Given the description of an element on the screen output the (x, y) to click on. 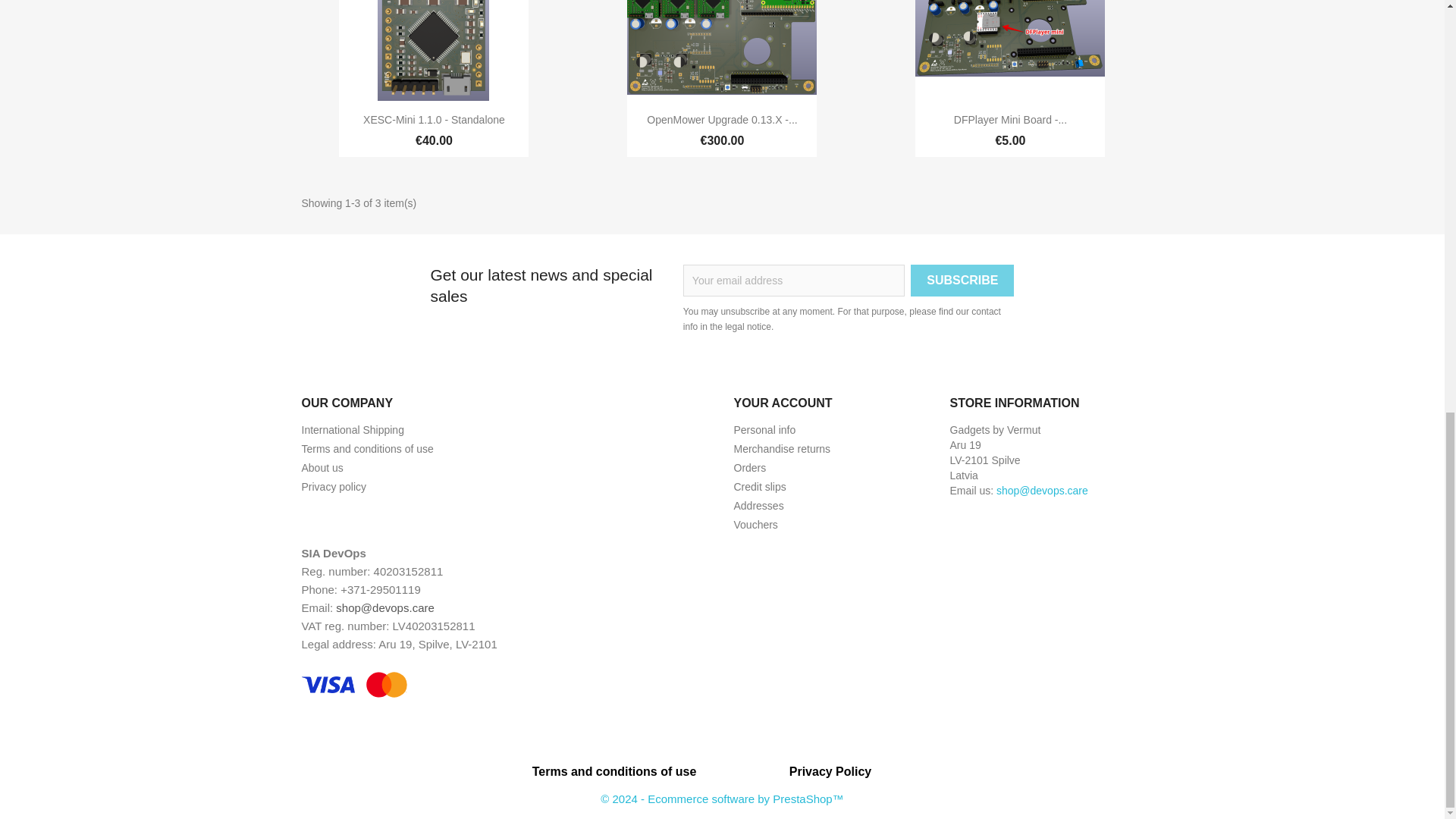
XESC-Mini 1.1.0 - Standalone (433, 119)
Subscribe (962, 280)
Merchandise returns (782, 449)
OpenMower Upgrade 0.13.X -... (721, 119)
Addresses (758, 505)
YOUR ACCOUNT (782, 402)
International Shipping (352, 429)
Learn more about us (322, 467)
About us (322, 467)
DFPlayer Mini Board -... (1010, 119)
Our terms and conditions of delivery (352, 429)
Our terms and conditions of use (367, 449)
Subscribe (962, 280)
Merchandise returns (782, 449)
Personal info (764, 429)
